Given the description of an element on the screen output the (x, y) to click on. 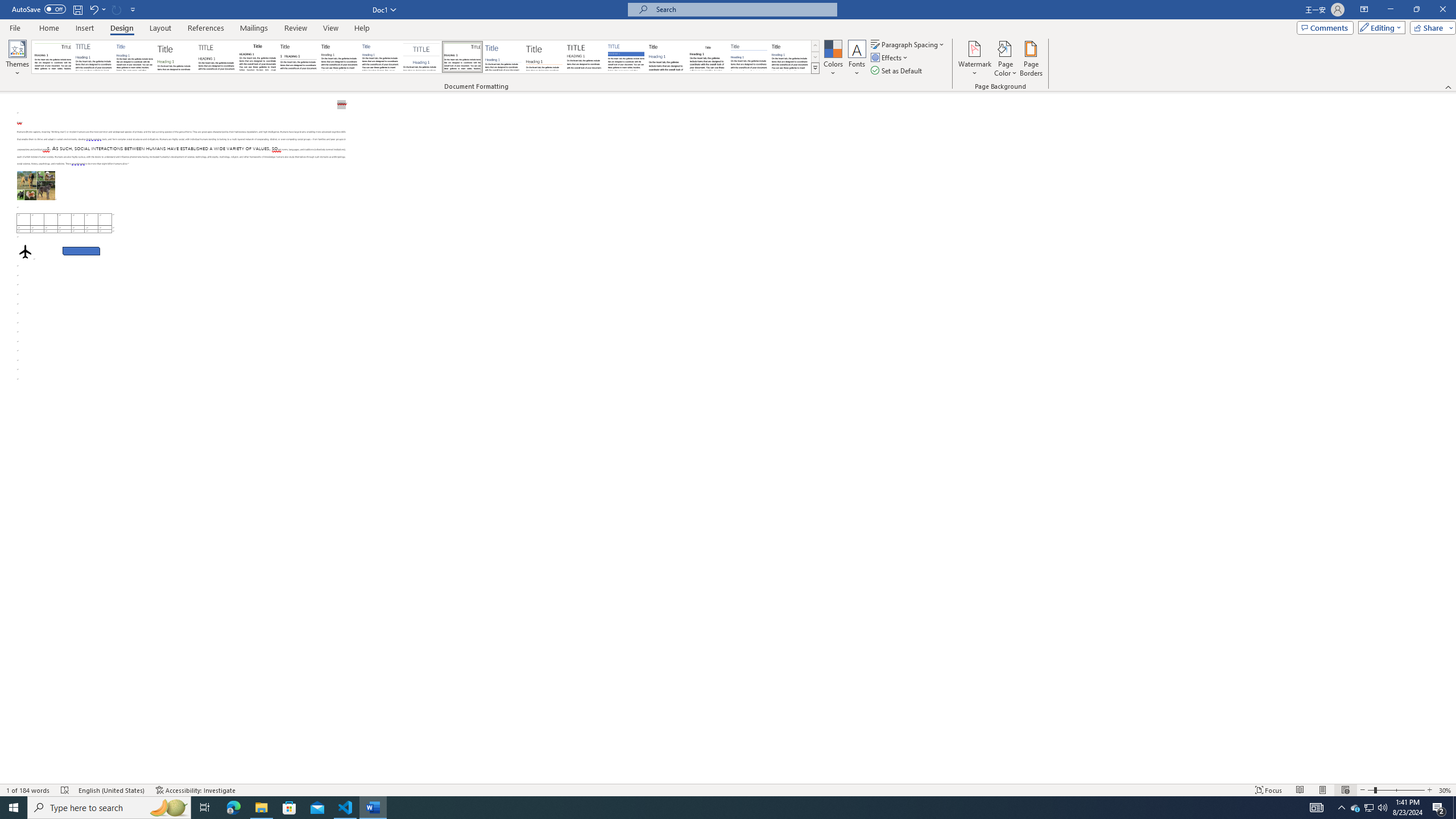
Watermark (974, 58)
Basic (Elegant) (93, 56)
AutomationID: QuickStylesSets (425, 56)
Editing (1379, 27)
Centered (421, 56)
